Given the description of an element on the screen output the (x, y) to click on. 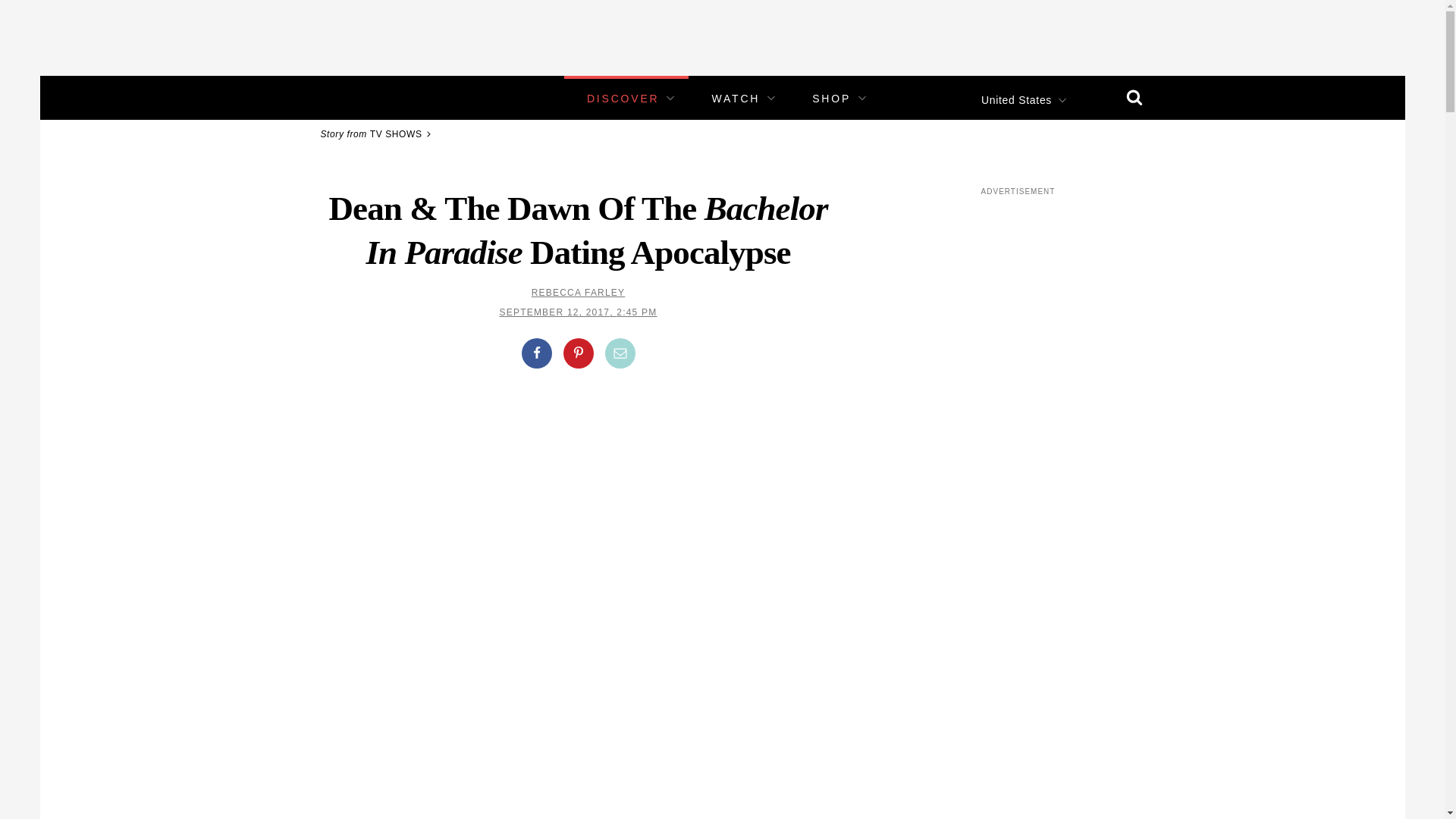
Share on Pinterest (577, 353)
DISCOVER (622, 98)
Story from TV SHOWS (377, 133)
SEPTEMBER 12, 2017, 2:45 PM (578, 312)
Share by Email (619, 353)
REBECCA FARLEY (578, 292)
SHOP (831, 98)
WATCH (735, 98)
Refinery29 (352, 97)
